Given the description of an element on the screen output the (x, y) to click on. 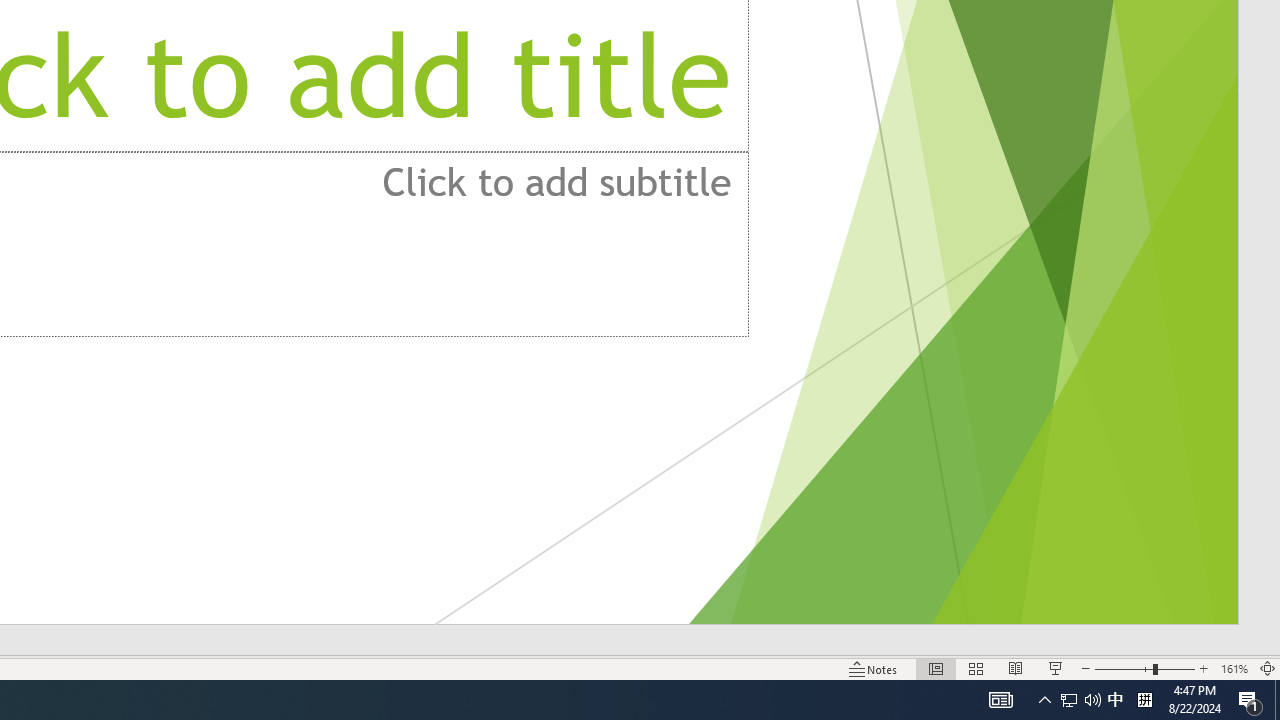
Zoom 161% (1234, 668)
